Given the description of an element on the screen output the (x, y) to click on. 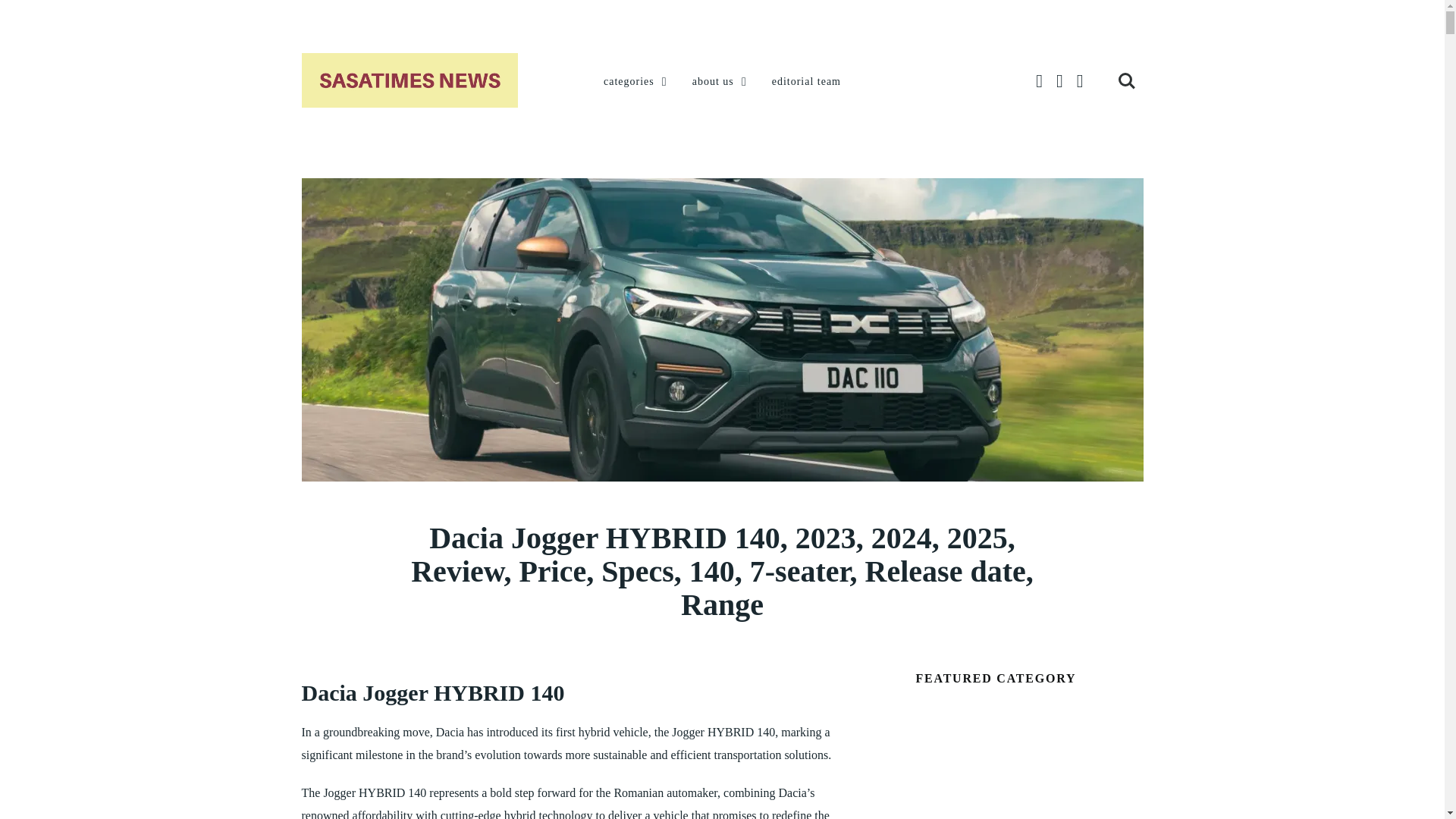
about us (721, 81)
categories (636, 81)
editorial team (806, 81)
